Given the description of an element on the screen output the (x, y) to click on. 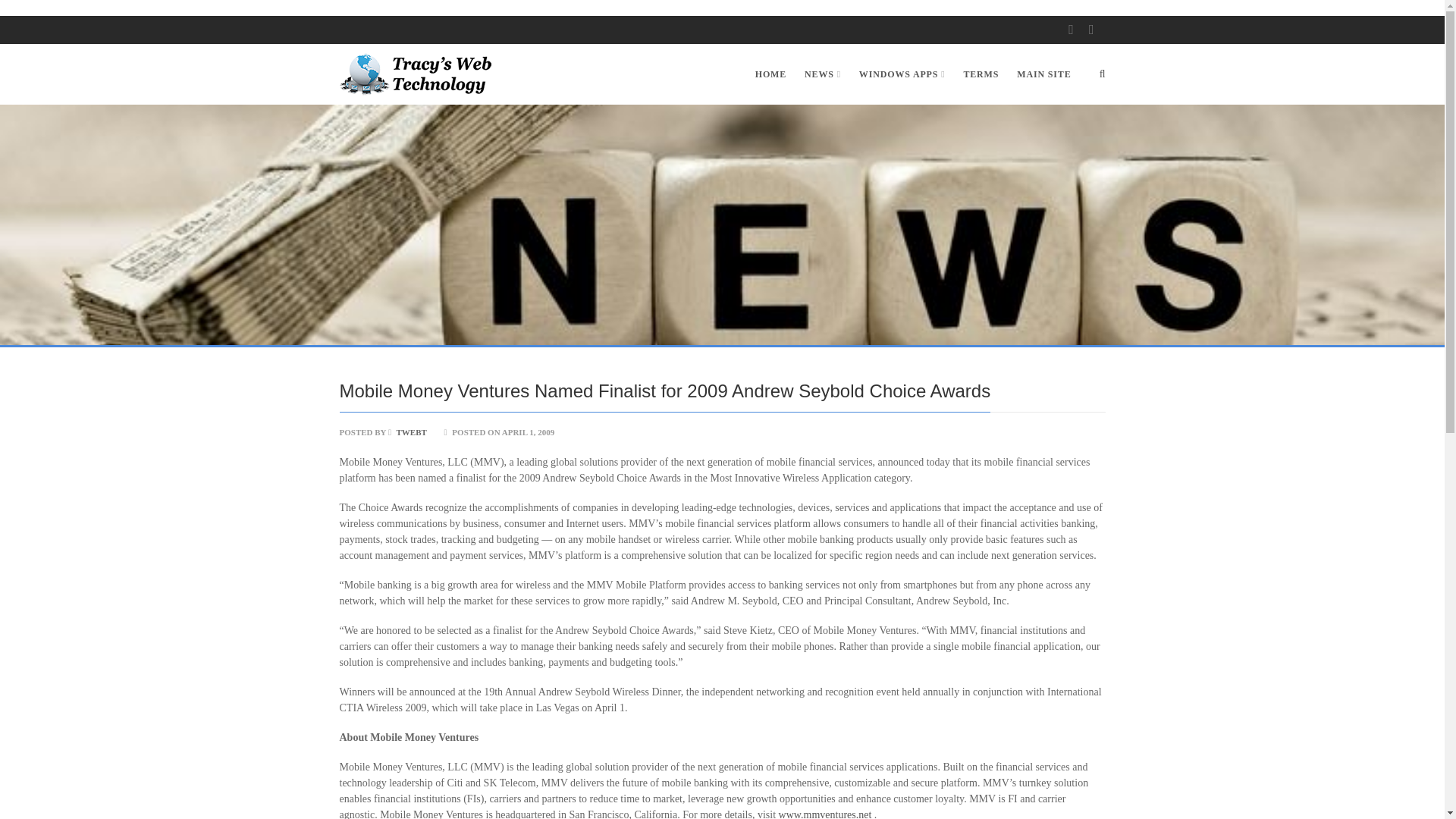
MAIN SITE (1038, 74)
www.mmventures.net (826, 813)
WINDOWS APPS (902, 74)
TWEBT Tech News (415, 74)
NEWS (822, 74)
TWEBT (407, 431)
